Given the description of an element on the screen output the (x, y) to click on. 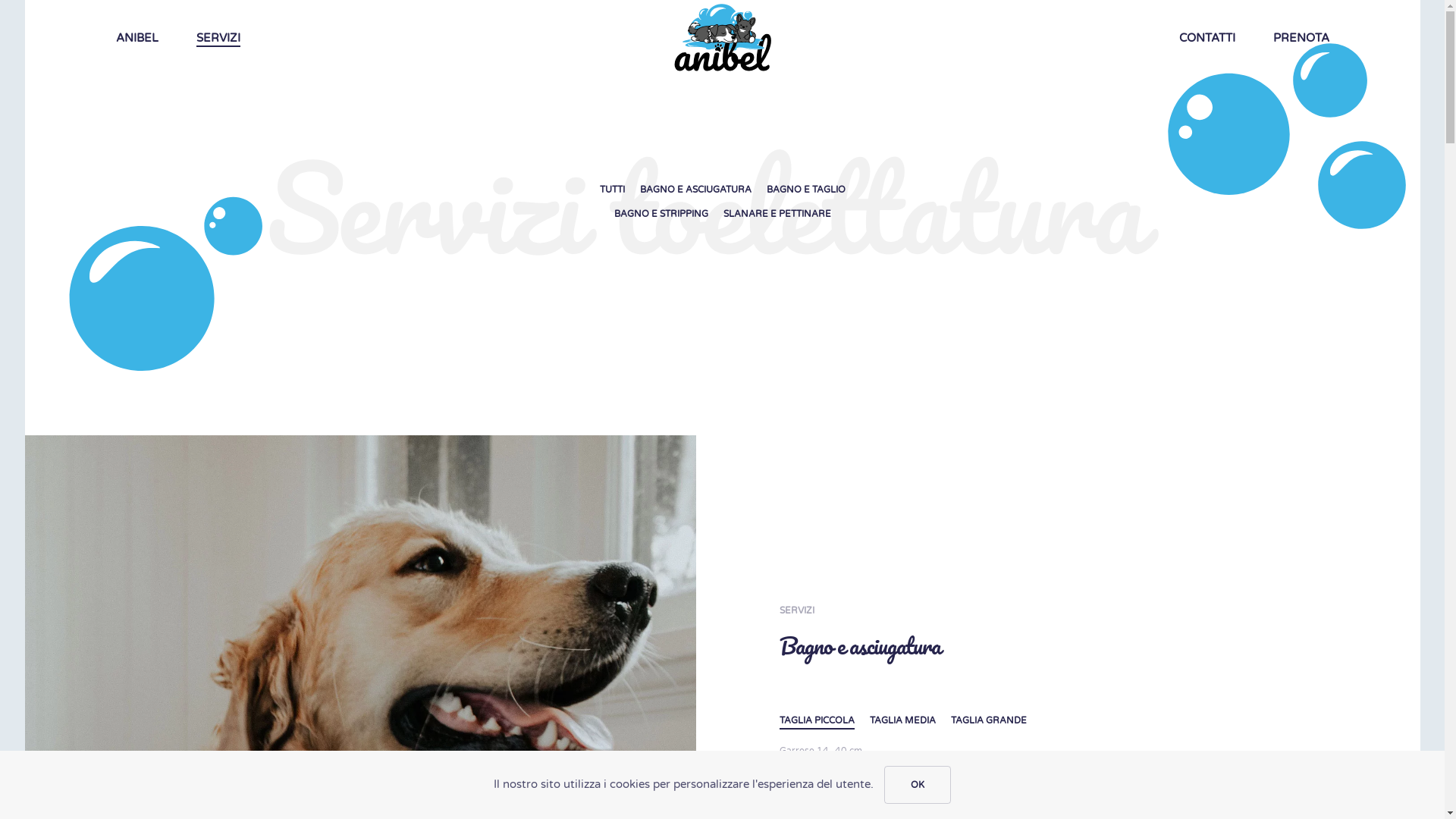
SLANARE E PETTINARE Element type: text (777, 214)
TAGLIA MEDIA Element type: text (902, 720)
TUTTI Element type: text (611, 190)
ANIBEL Element type: text (137, 37)
SERVIZI Element type: text (218, 37)
OK Element type: text (917, 784)
TAGLIA PICCOLA Element type: text (816, 720)
TAGLIA GRANDE Element type: text (988, 720)
BAGNO E ASCIUGATURA Element type: text (695, 190)
BAGNO E TAGLIO Element type: text (804, 190)
PRENOTA Element type: text (1301, 37)
BAGNO E STRIPPING Element type: text (661, 214)
CONTATTI Element type: text (1207, 37)
